Given the description of an element on the screen output the (x, y) to click on. 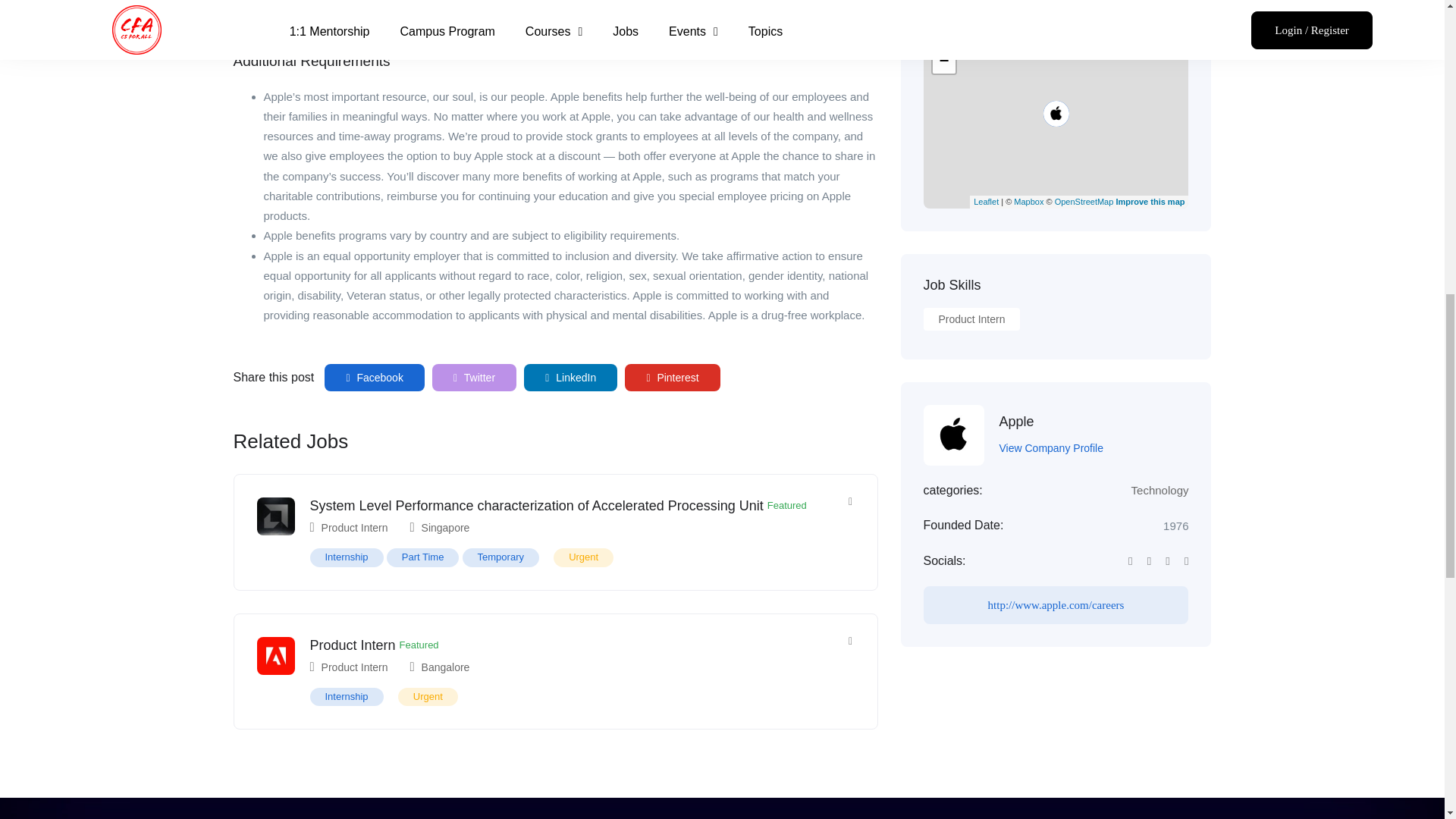
A JS library for interactive maps (986, 201)
Zoom in (944, 38)
Zoom out (944, 61)
